Given the description of an element on the screen output the (x, y) to click on. 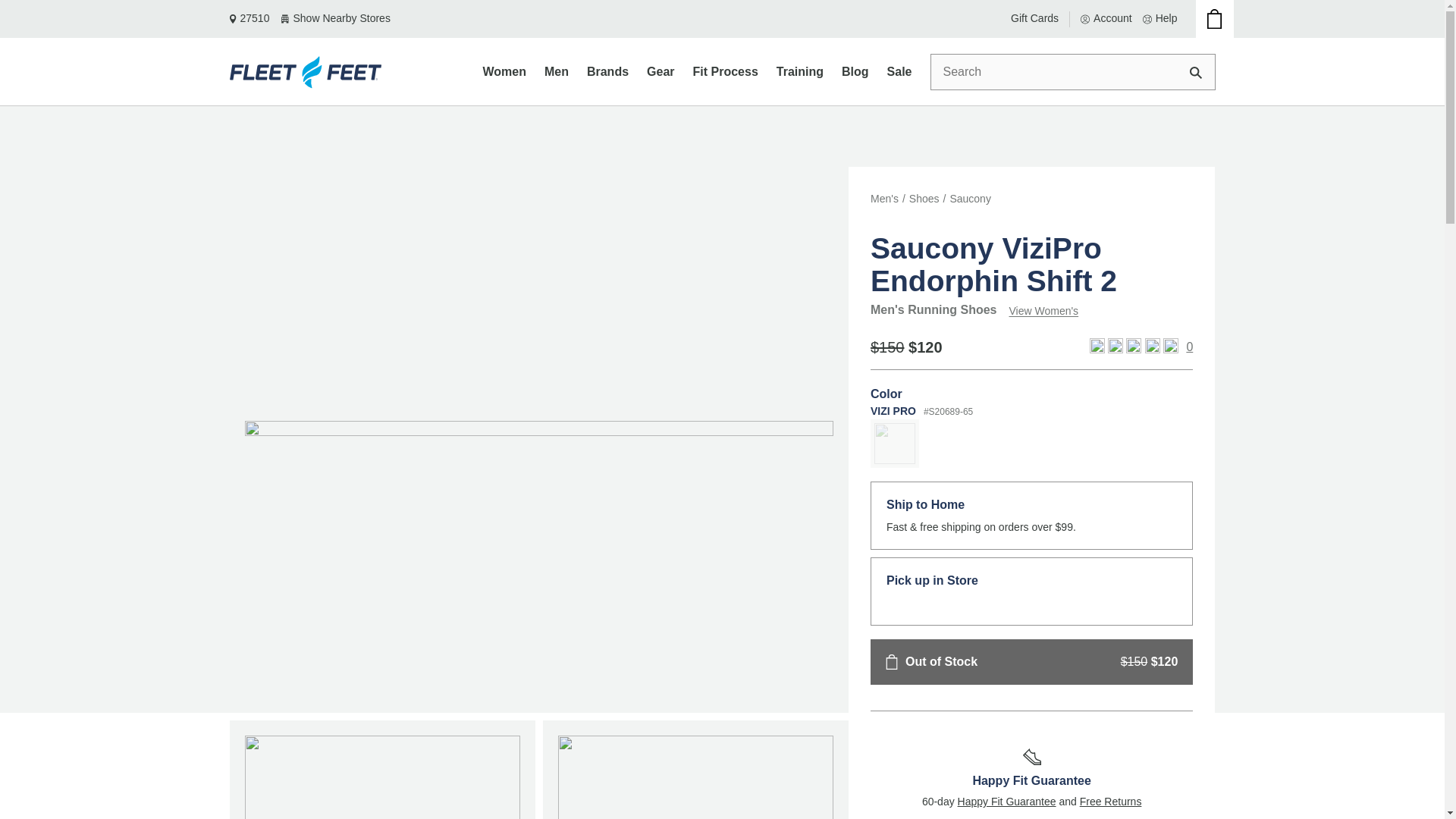
Women (503, 71)
